Given the description of an element on the screen output the (x, y) to click on. 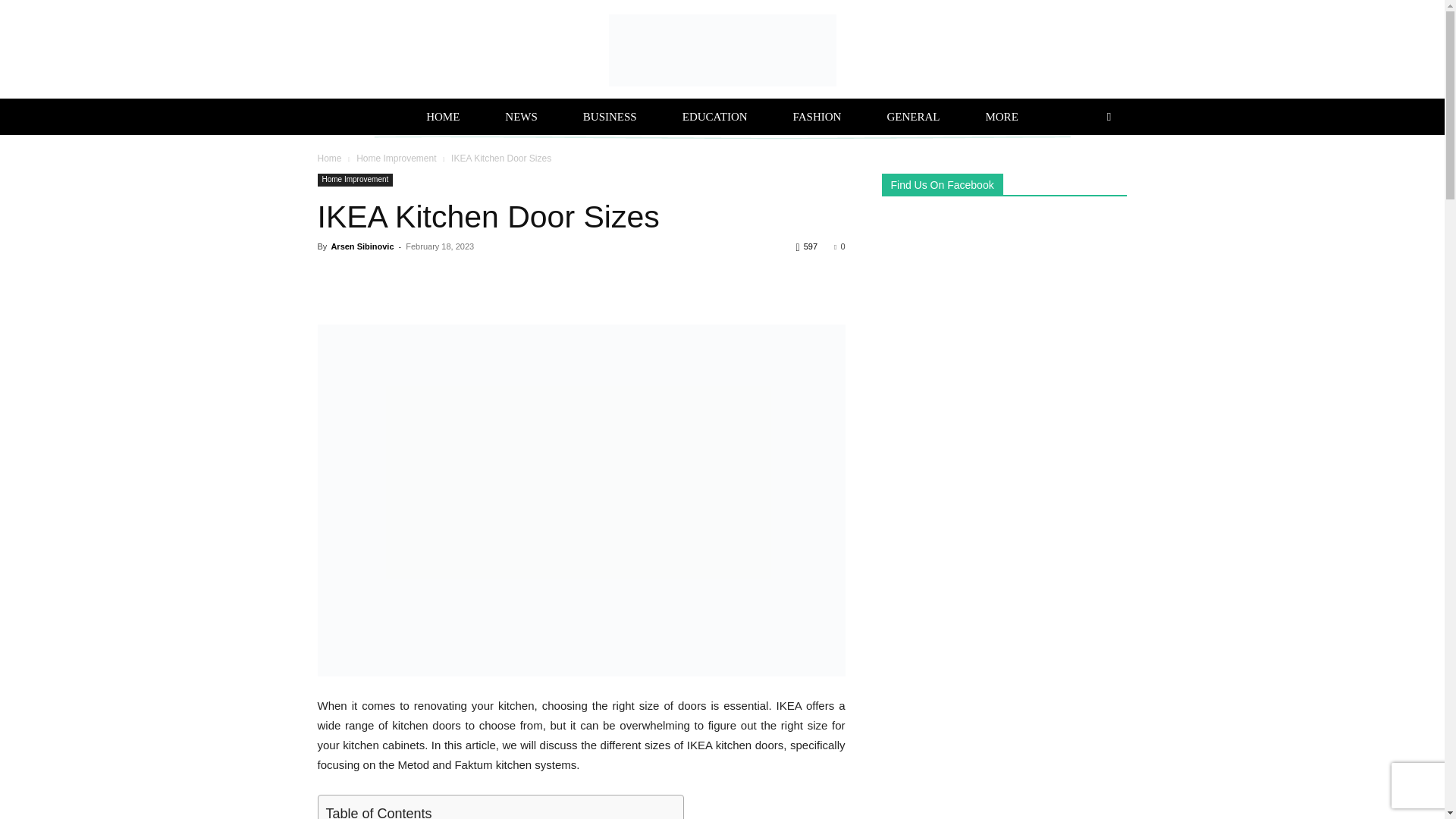
EDUCATION (714, 116)
FASHION (817, 116)
Home Improvement (395, 158)
MORE (1001, 116)
Search (1083, 180)
HOME (442, 116)
GENERAL (912, 116)
Home Improvement (355, 179)
BUSINESS (609, 116)
